Given the description of an element on the screen output the (x, y) to click on. 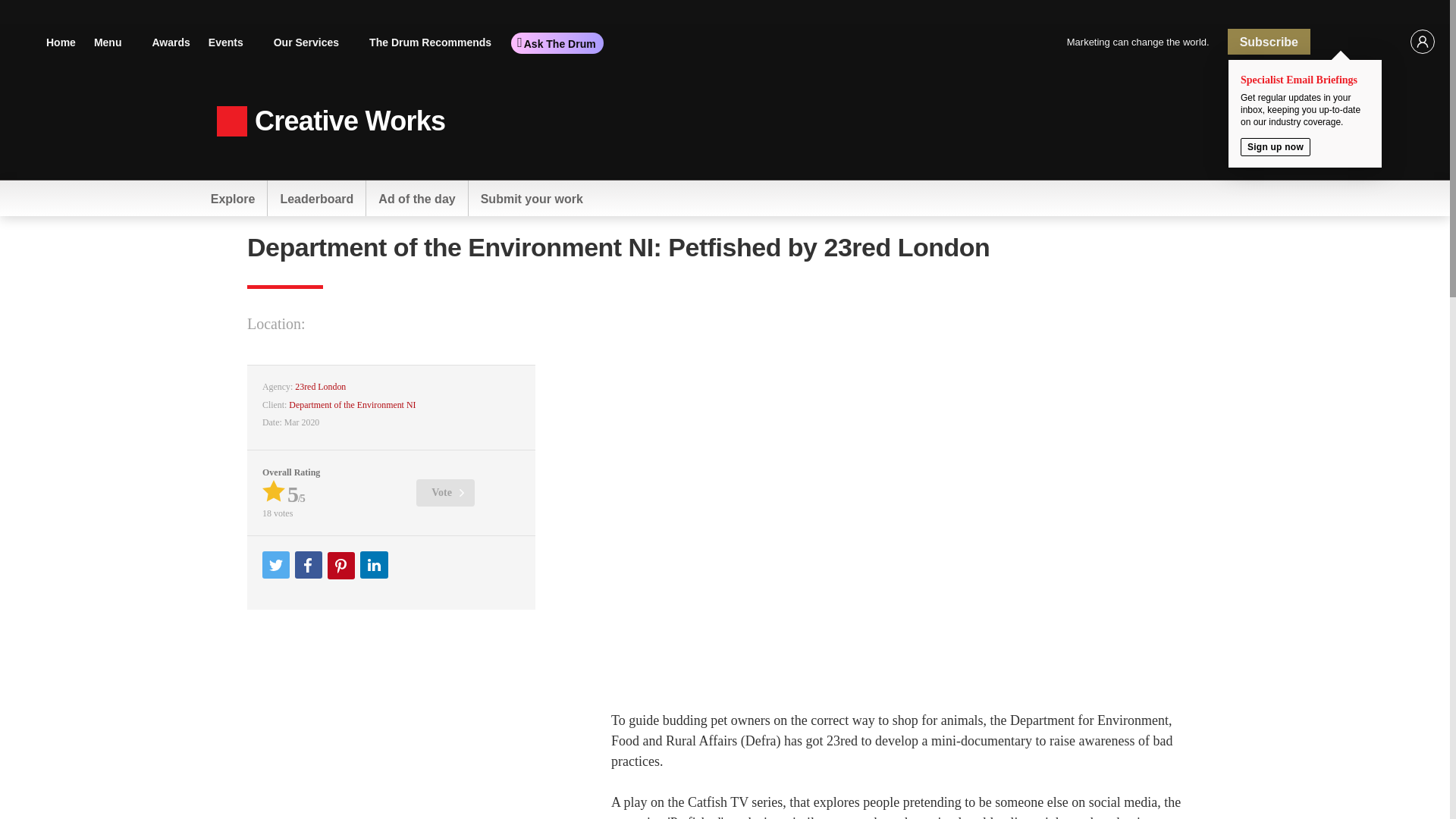
Home (61, 41)
Vote (445, 492)
Menu (113, 41)
